Given the description of an element on the screen output the (x, y) to click on. 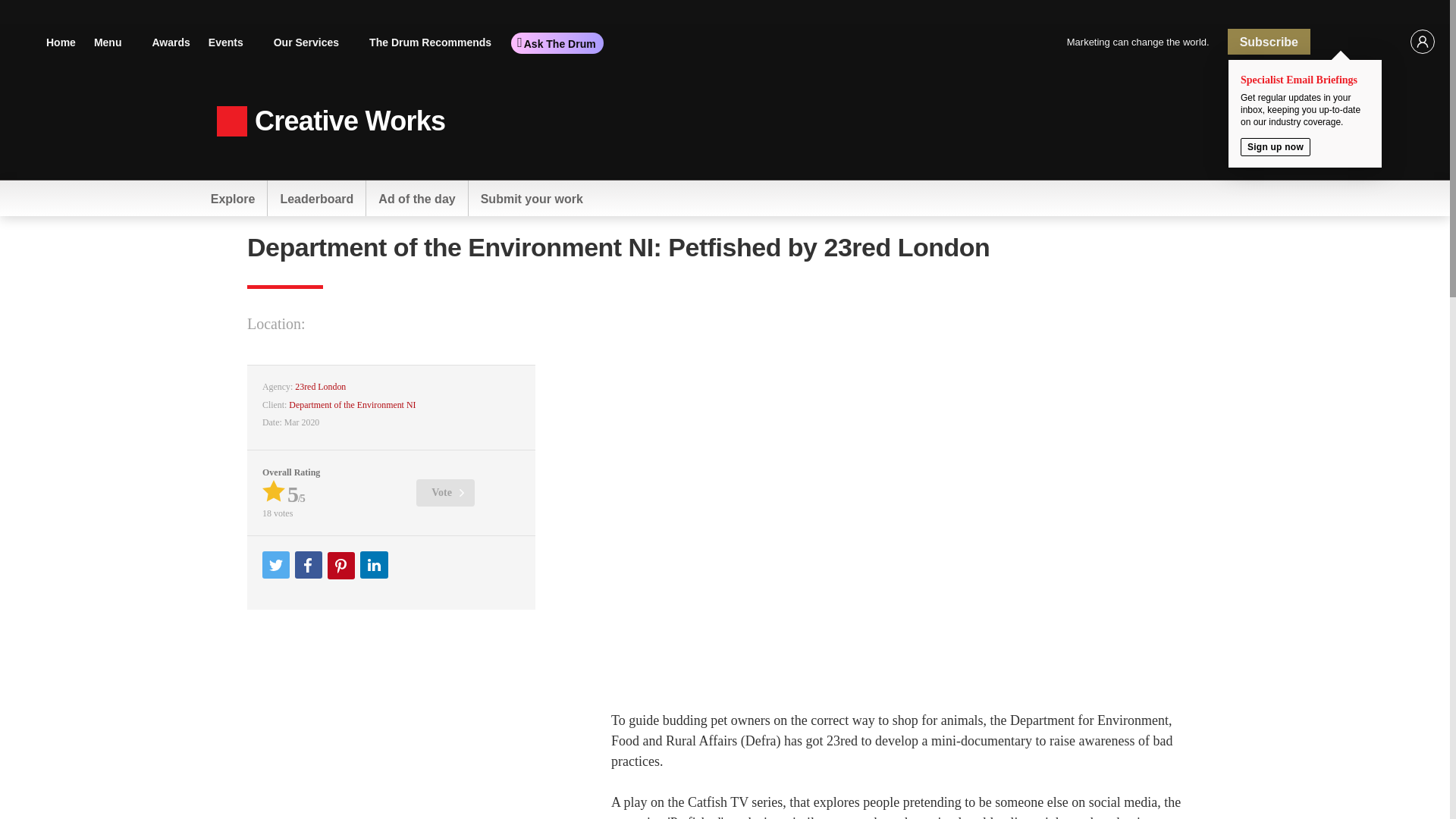
Home (61, 41)
Vote (445, 492)
Menu (113, 41)
